Given the description of an element on the screen output the (x, y) to click on. 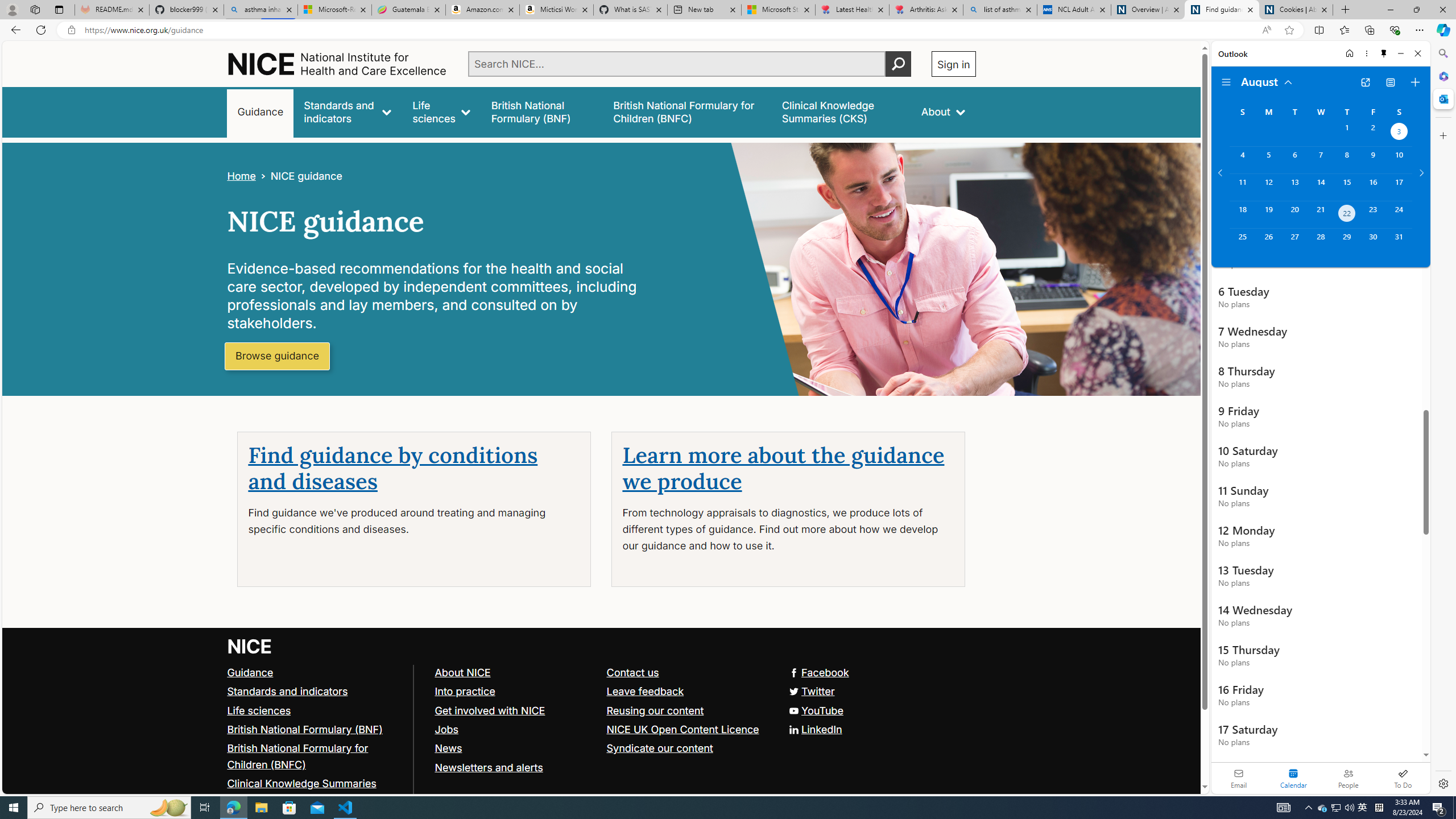
Life sciences (440, 111)
Wednesday, August 14, 2024.  (1320, 186)
Friday, August 9, 2024.  (1372, 159)
Back (13, 29)
Browser essentials (1394, 29)
Browse guidance (277, 356)
Split screen (1318, 29)
Unpin side pane (1383, 53)
British National Formulary for Children (BNFC) (315, 756)
Tuesday, August 13, 2024.  (1294, 186)
